Given the description of an element on the screen output the (x, y) to click on. 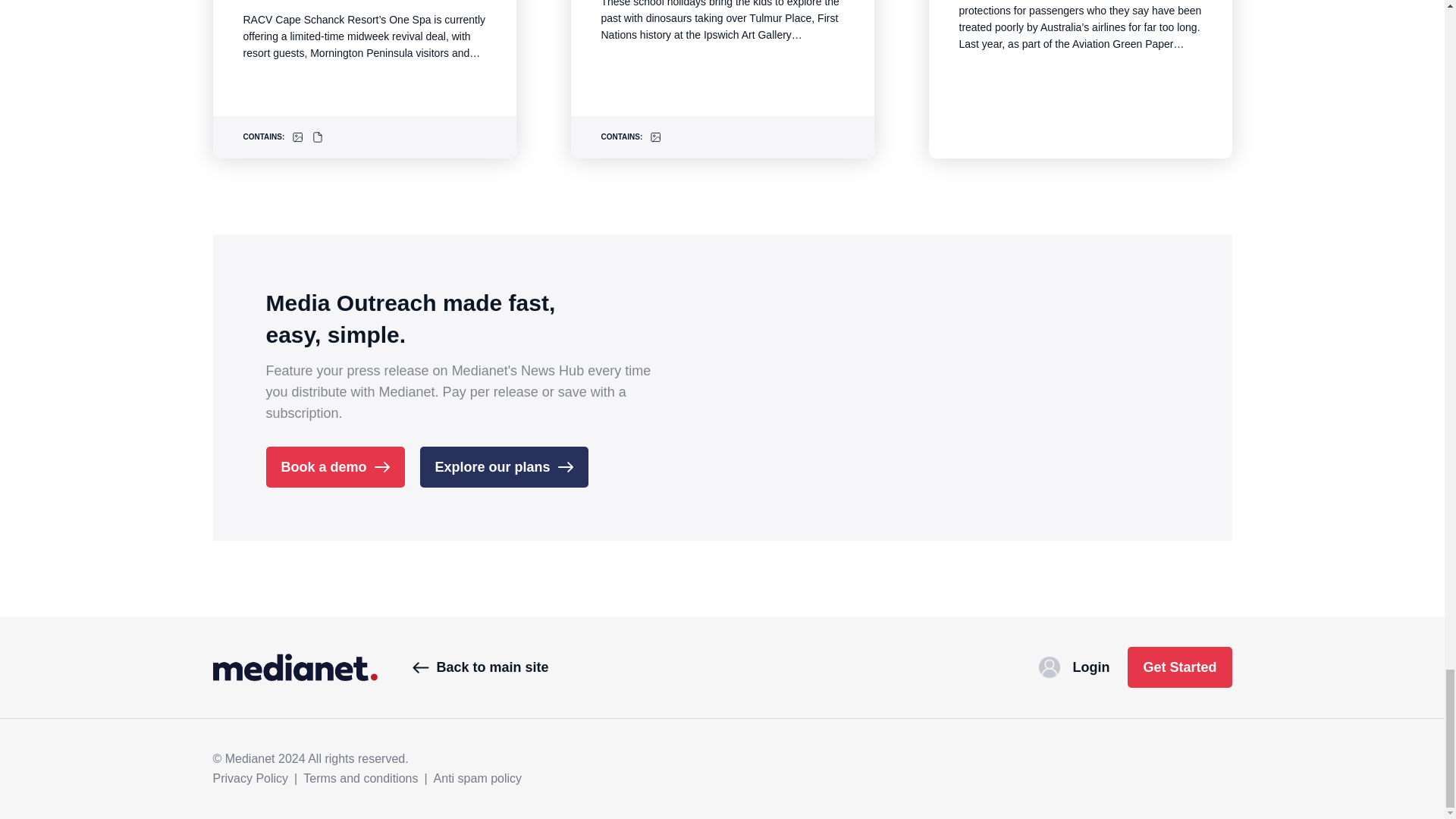
Login (1074, 667)
Book a demo (334, 466)
Images (655, 137)
Anti spam policy (477, 778)
Attachments (317, 137)
Back to main site (480, 667)
Privacy Policy (250, 778)
Images (298, 137)
News Hub (294, 667)
Get Started (1178, 667)
